Given the description of an element on the screen output the (x, y) to click on. 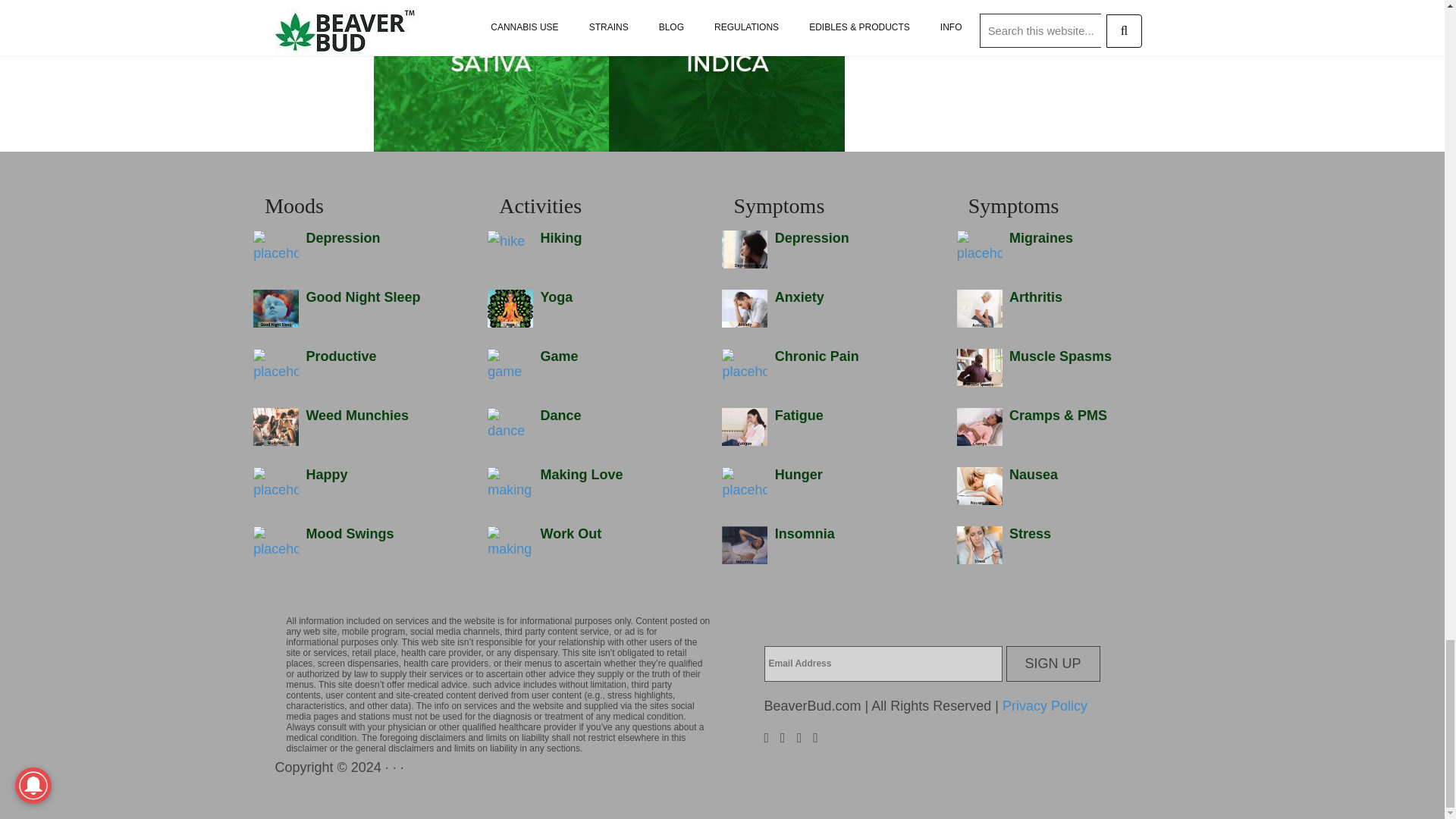
Sign Up (1053, 663)
